Given the description of an element on the screen output the (x, y) to click on. 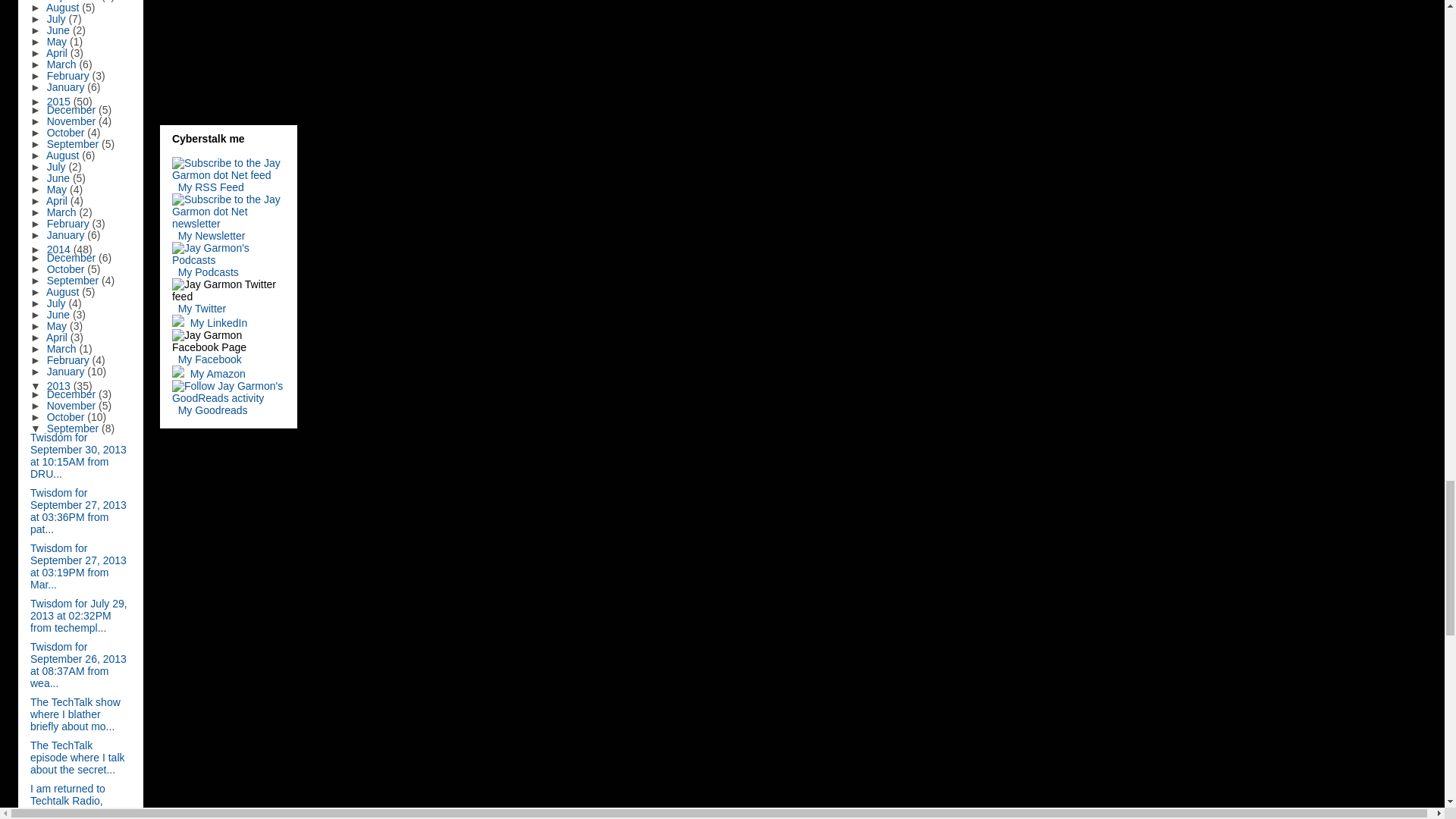
Subscribe to Jay Garmon dot Net feed (228, 174)
Subscribe to my feed (210, 186)
Subscribe to Jay Garmon dot Net newsletter (228, 223)
